Given the description of an element on the screen output the (x, y) to click on. 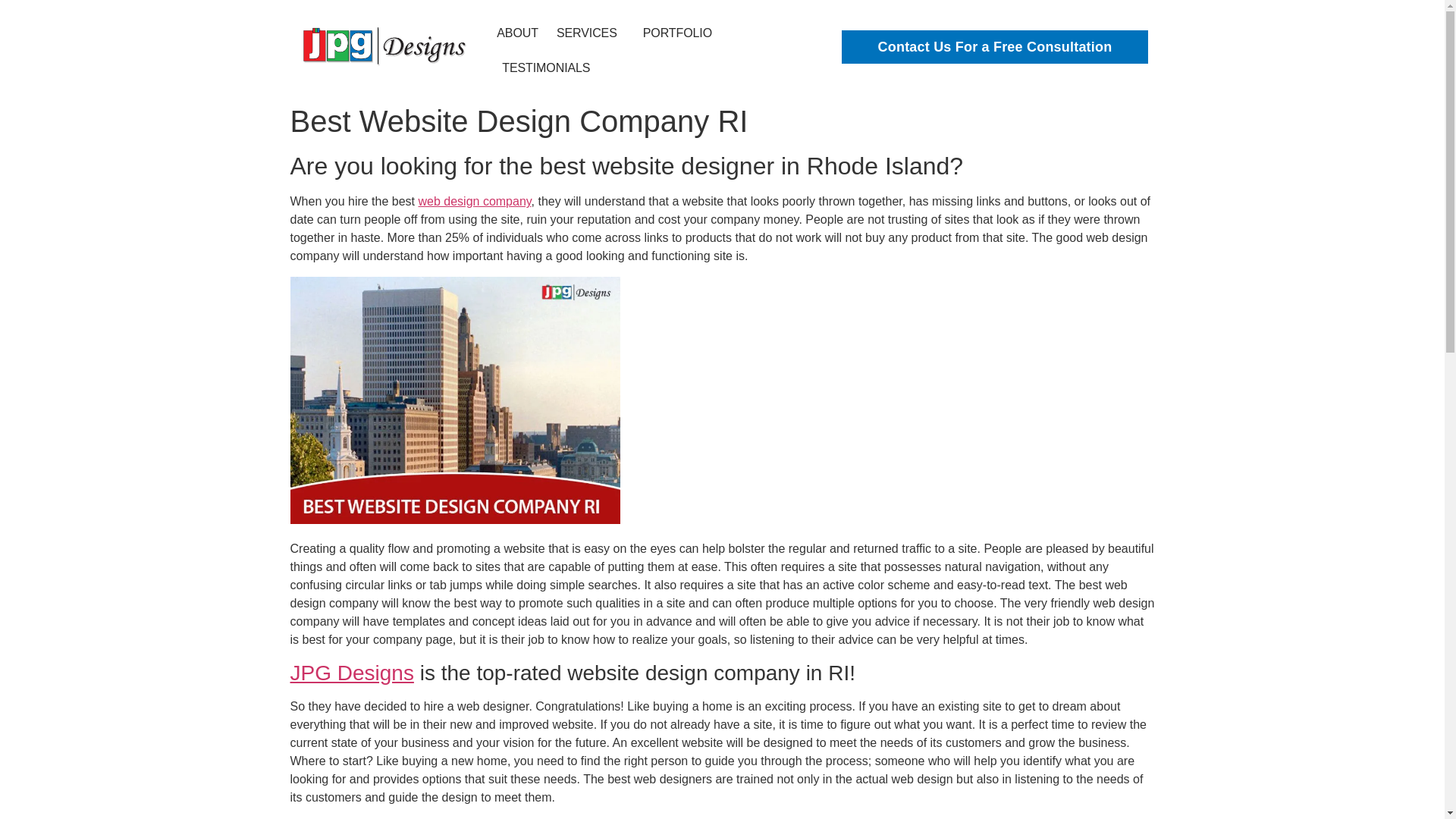
JPG Designs (351, 672)
SERVICES (590, 32)
web design company (474, 201)
TESTIMONIALS (545, 67)
ABOUT (517, 32)
PORTFOLIO (677, 32)
Contact Us For a Free Consultation (994, 46)
